Given the description of an element on the screen output the (x, y) to click on. 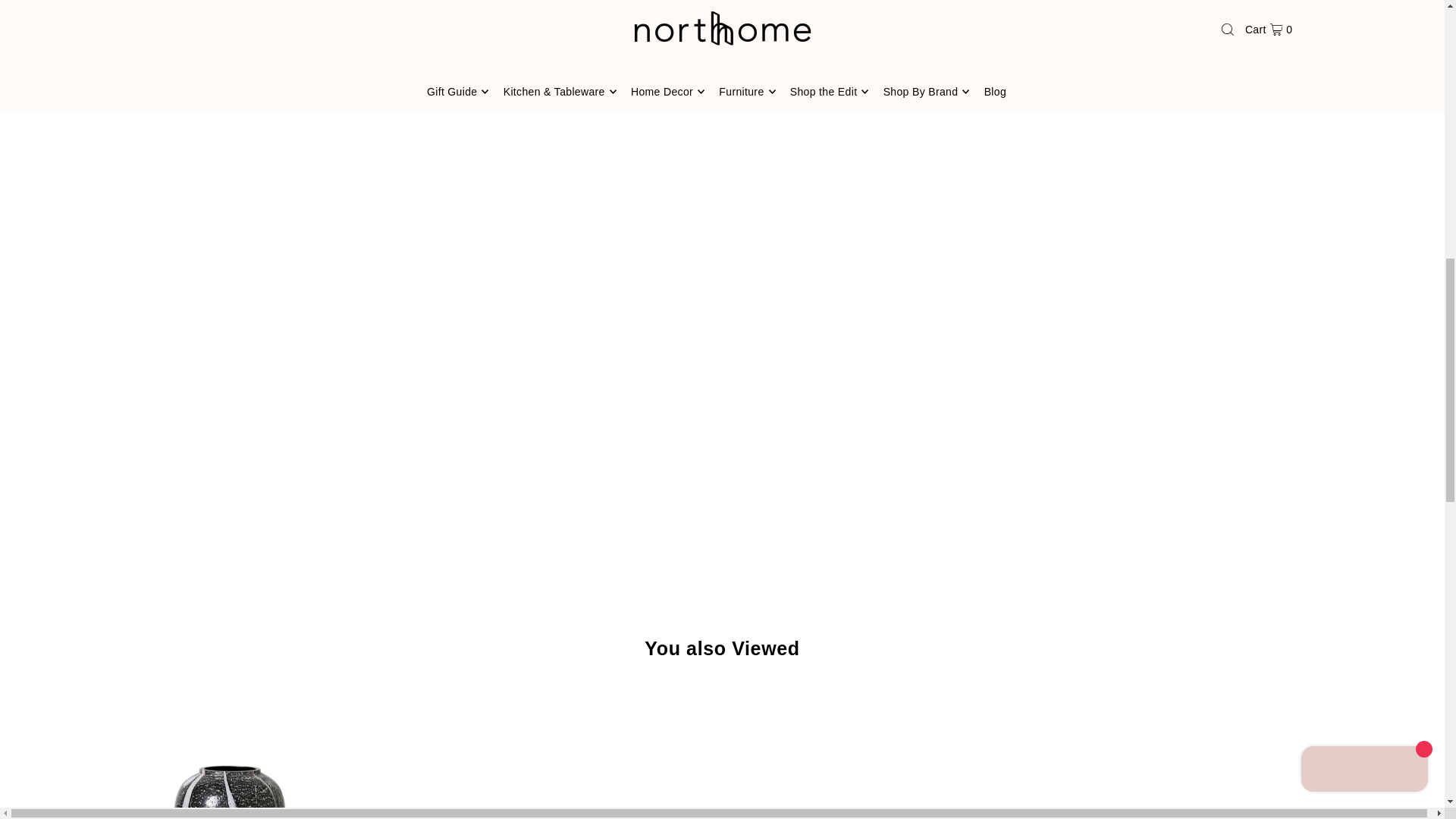
Glass Vase Monochrome (228, 750)
